Given the description of an element on the screen output the (x, y) to click on. 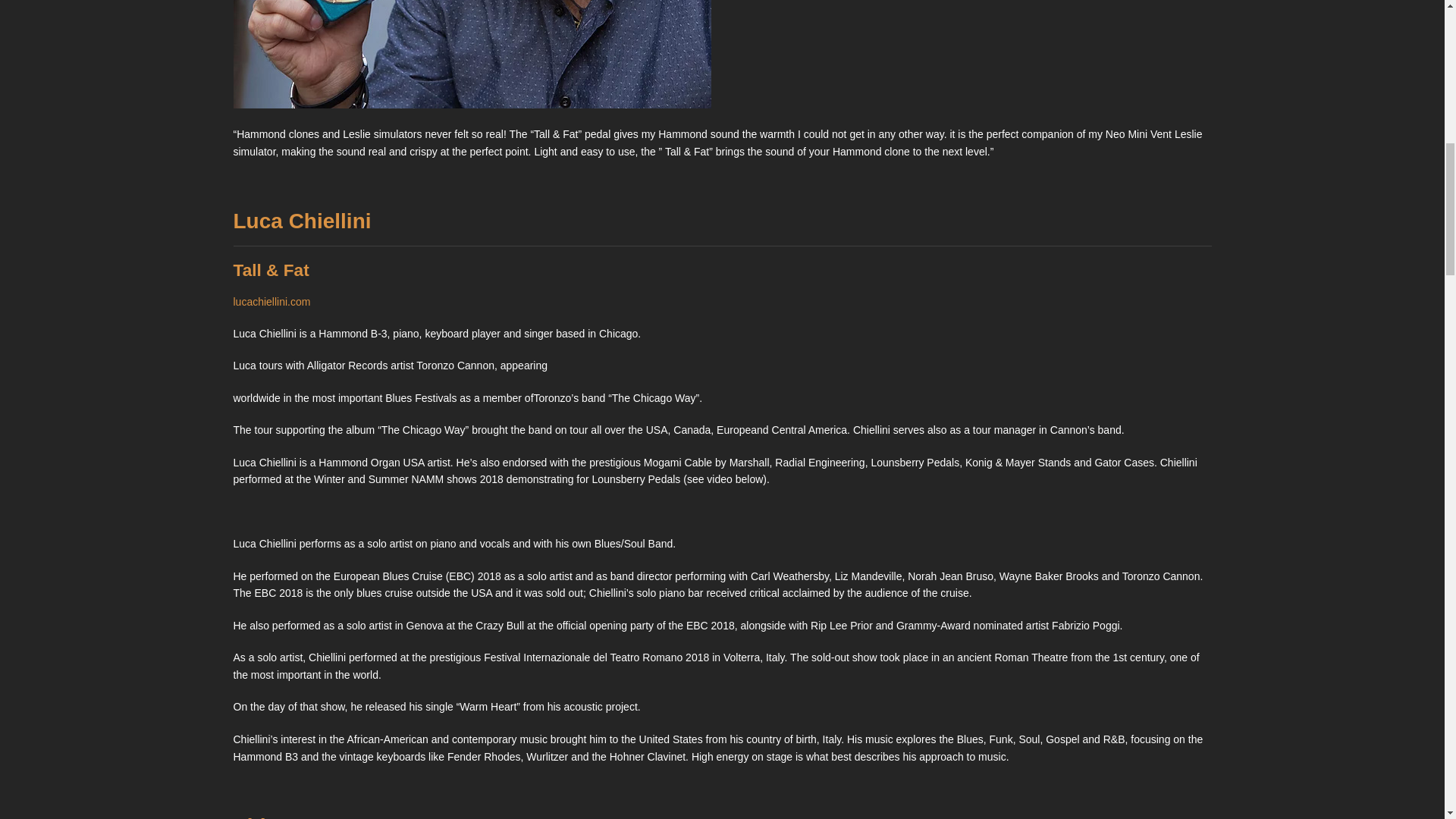
lucachiellini.com (271, 301)
